Given the description of an element on the screen output the (x, y) to click on. 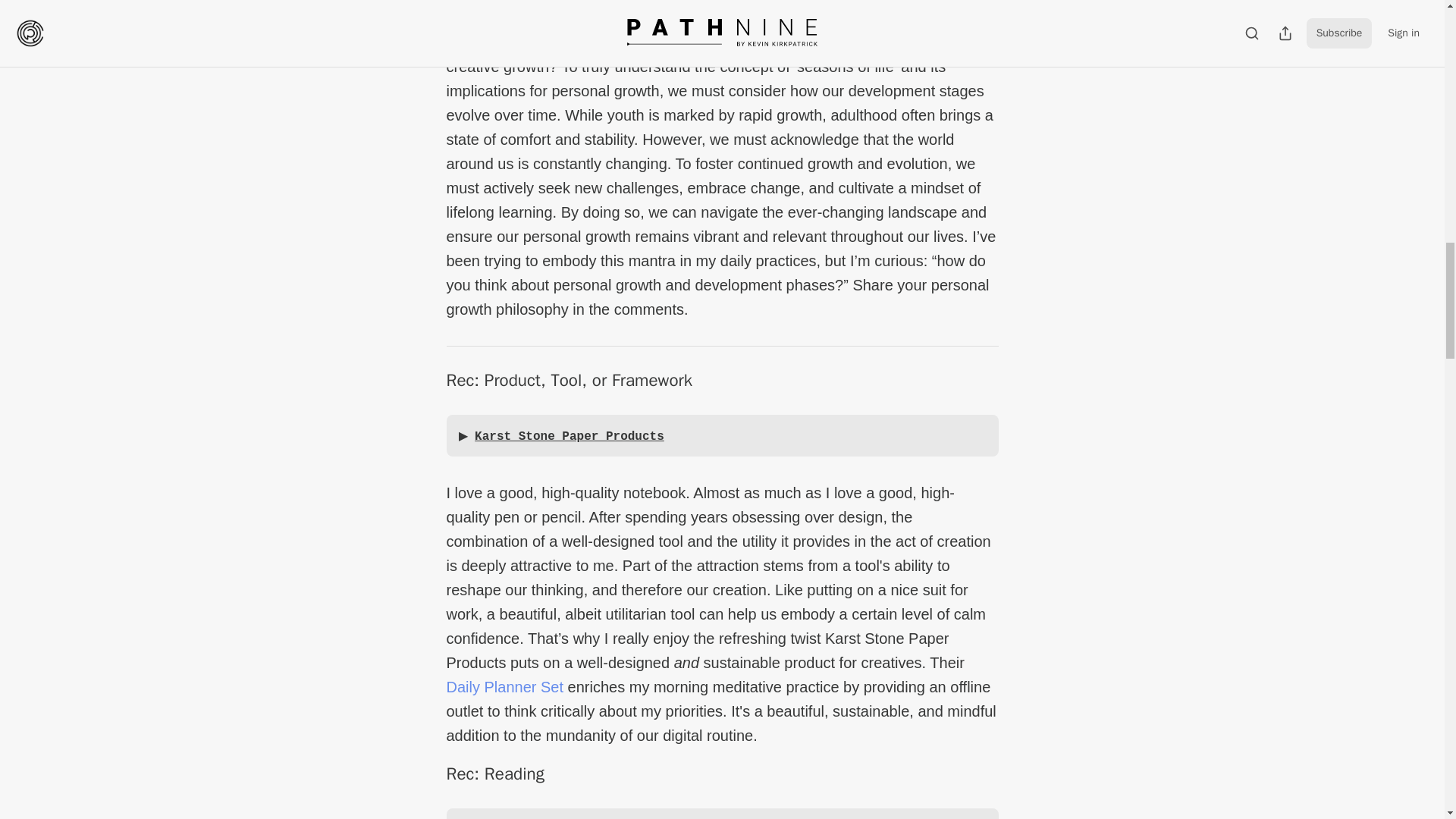
Daily Planner Set (504, 686)
seasons of life (768, 1)
Karst Stone Paper Products (568, 436)
